Given the description of an element on the screen output the (x, y) to click on. 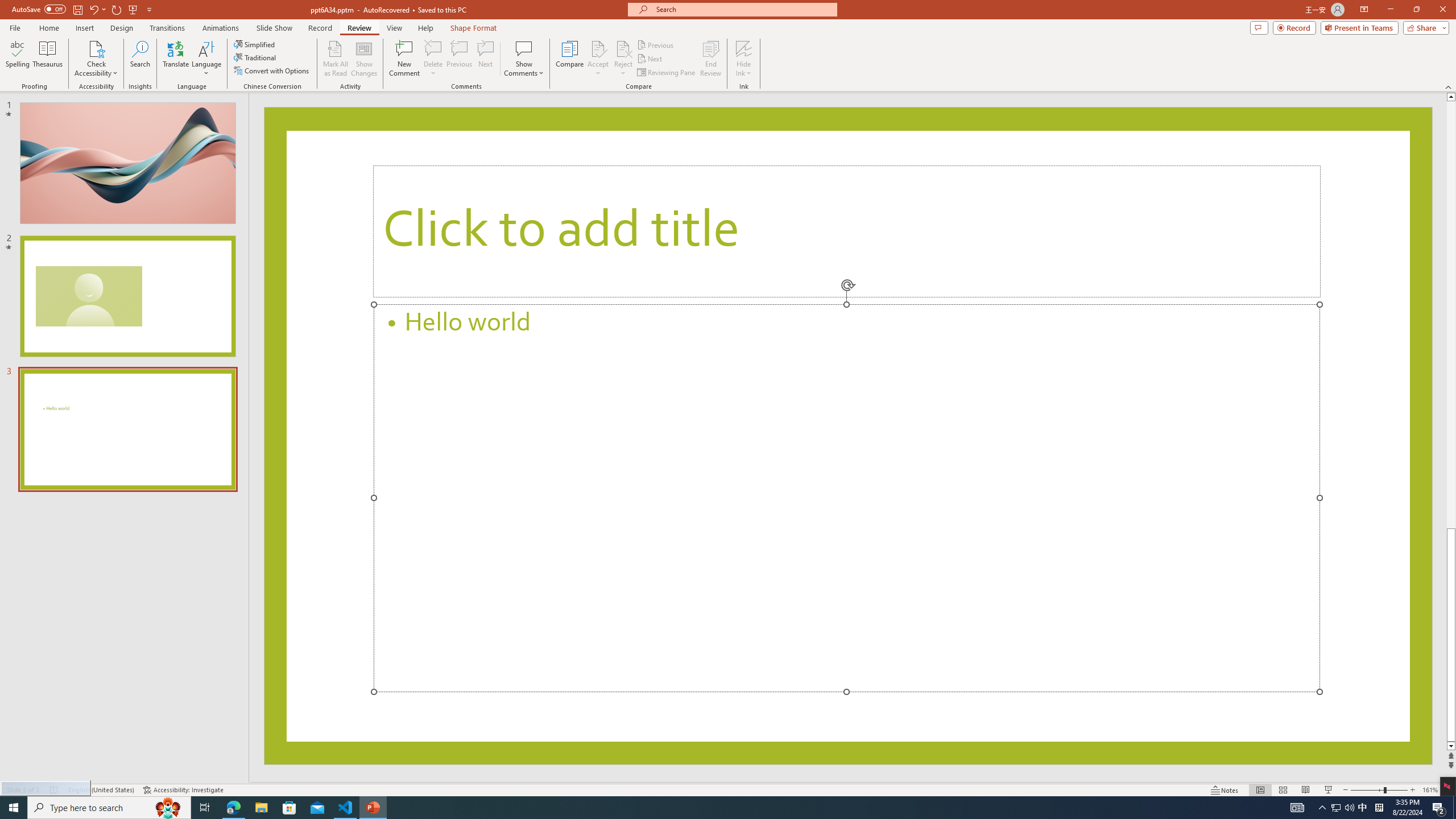
Hide Ink (743, 58)
Delete (432, 48)
Search (140, 58)
Traditional (255, 56)
Class: MsoCommandBar (728, 789)
Microsoft search (742, 9)
Compare (569, 58)
